Given the description of an element on the screen output the (x, y) to click on. 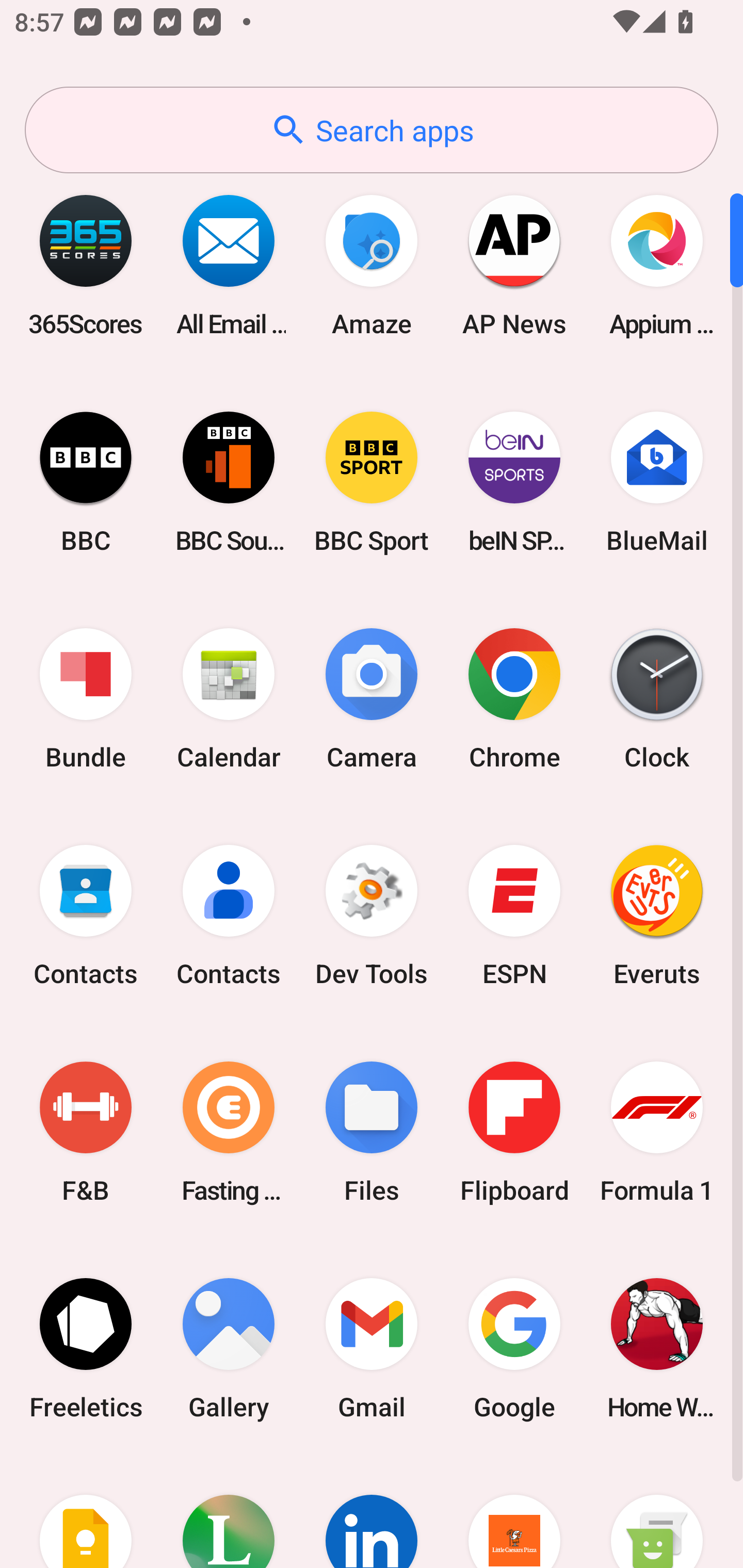
  Search apps (371, 130)
365Scores (85, 264)
All Email Connect (228, 264)
Amaze (371, 264)
AP News (514, 264)
Appium Settings (656, 264)
BBC (85, 482)
BBC Sounds (228, 482)
BBC Sport (371, 482)
beIN SPORTS (514, 482)
BlueMail (656, 482)
Bundle (85, 699)
Calendar (228, 699)
Camera (371, 699)
Chrome (514, 699)
Clock (656, 699)
Contacts (85, 915)
Contacts (228, 915)
Dev Tools (371, 915)
ESPN (514, 915)
Everuts (656, 915)
F&B (85, 1131)
Fasting Coach (228, 1131)
Files (371, 1131)
Flipboard (514, 1131)
Formula 1 (656, 1131)
Freeletics (85, 1348)
Gallery (228, 1348)
Gmail (371, 1348)
Google (514, 1348)
Home Workout (656, 1348)
Keep Notes (85, 1512)
Lifesum (228, 1512)
LinkedIn (371, 1512)
Little Caesars Pizza (514, 1512)
Messaging (656, 1512)
